Given the description of an element on the screen output the (x, y) to click on. 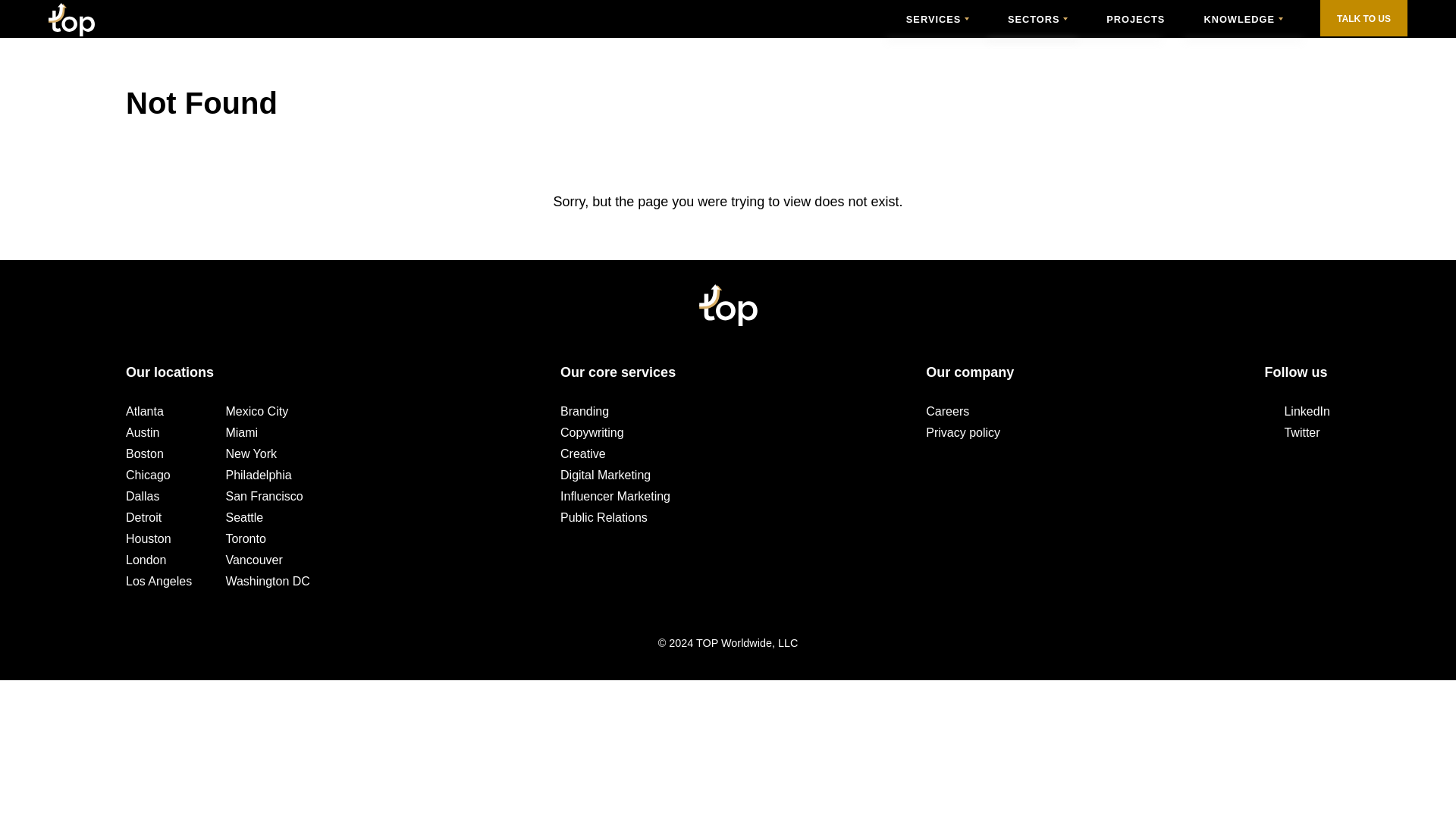
KNOWLEDGE (1243, 18)
Detroit (143, 517)
London (145, 559)
Vancouver (253, 559)
Atlanta (144, 411)
Branding (584, 411)
PROJECTS (1136, 18)
Houston (148, 538)
San Francisco (263, 496)
Philadelphia (258, 475)
